Given the description of an element on the screen output the (x, y) to click on. 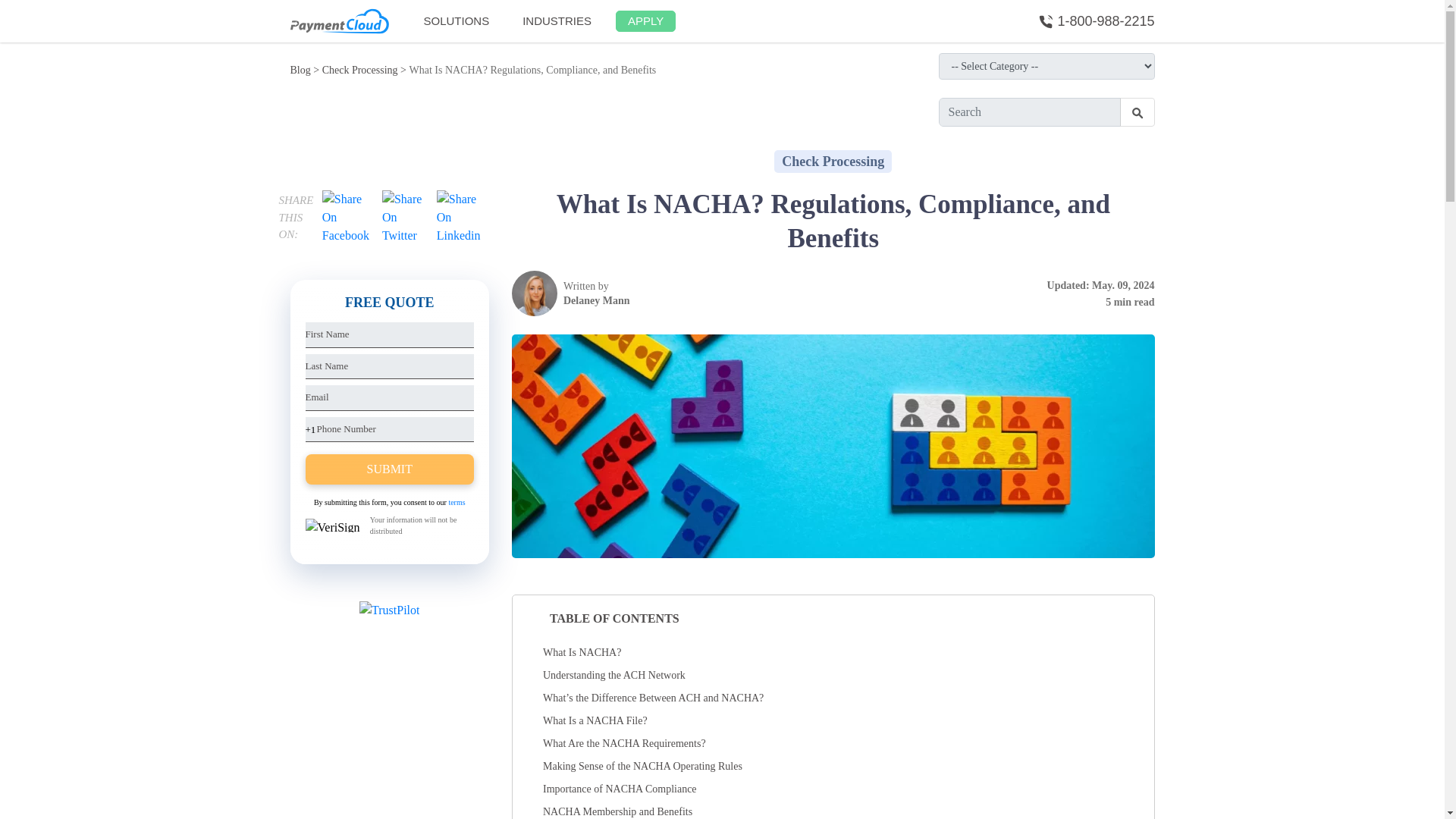
INDUSTRIES (556, 21)
Accept Payments (455, 21)
Blog (299, 70)
Check Processing (359, 70)
Check Processing (832, 160)
SOLUTIONS (455, 21)
APPLY (645, 21)
1-800-988-2215 (1096, 20)
Industries (556, 21)
Home (596, 293)
